Given the description of an element on the screen output the (x, y) to click on. 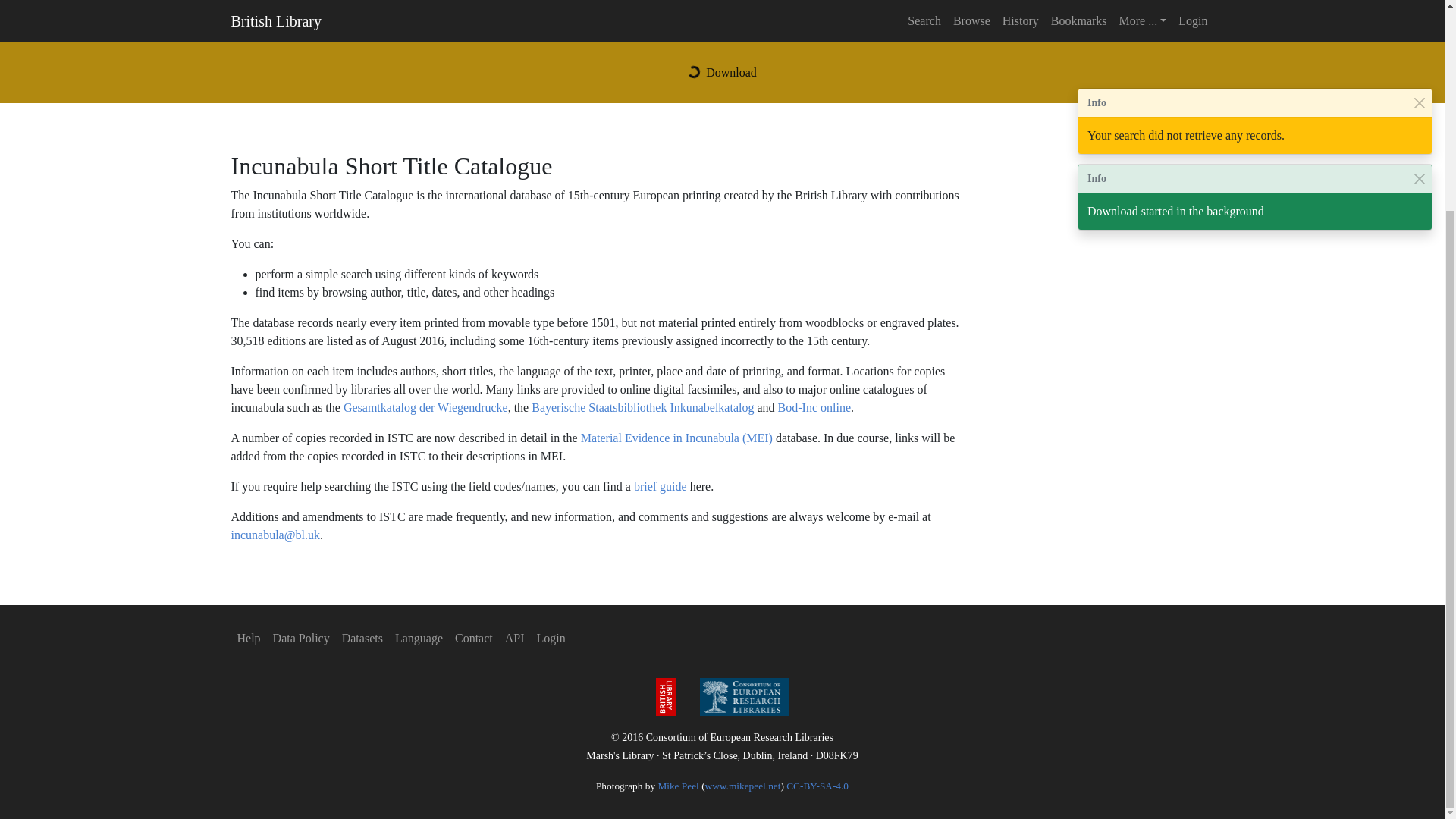
  Search (1178, 18)
Mike Peel (678, 785)
Gesamtkatalog der Wiegendrucke (425, 407)
brief guide (660, 486)
www.mikepeel.net (742, 785)
Contact (473, 638)
Login (551, 638)
API (515, 638)
Data Policy (301, 638)
Help (248, 638)
Datasets (362, 638)
CC-BY-SA-4.0 (817, 785)
Link opens in new window (301, 638)
Bod-Inc online (813, 407)
Language (418, 638)
